Given the description of an element on the screen output the (x, y) to click on. 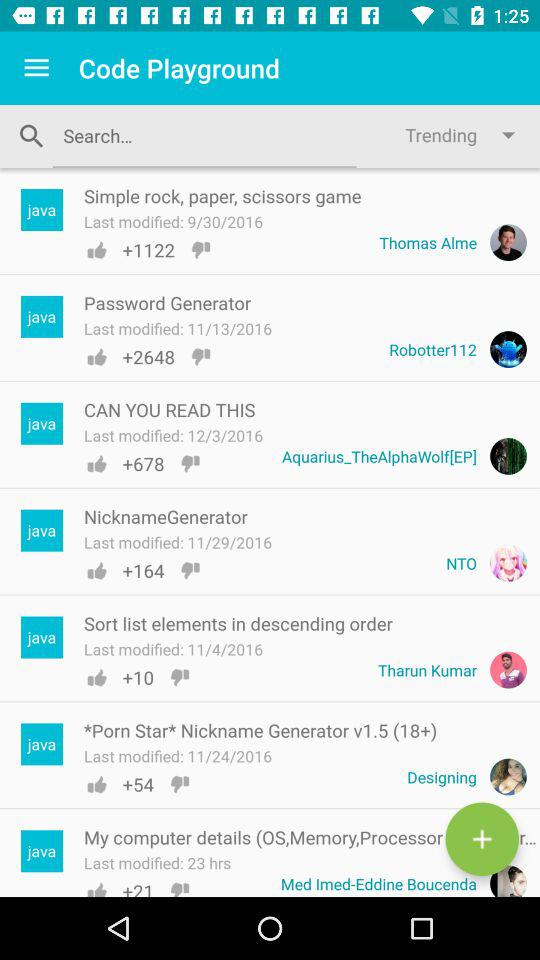
add another entry (482, 839)
